Given the description of an element on the screen output the (x, y) to click on. 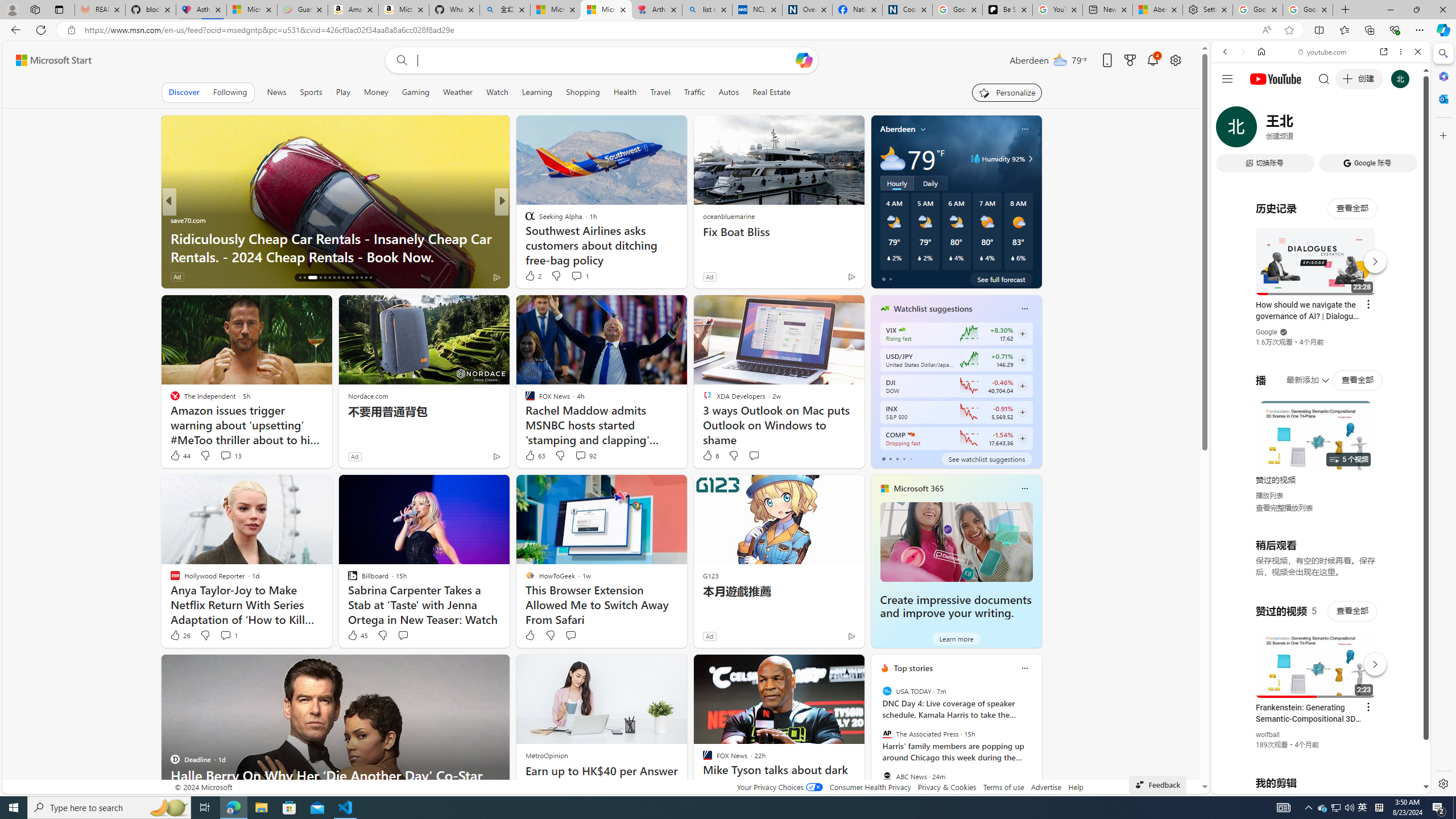
Earn up to HK$40 per Answer (601, 771)
Hourly (896, 183)
Trailer #2 [HD] (1320, 337)
Top stories (913, 668)
119 Like (532, 276)
AutomationID: tab-18 (312, 277)
wolfball (1268, 734)
The Independent (524, 219)
